Given the description of an element on the screen output the (x, y) to click on. 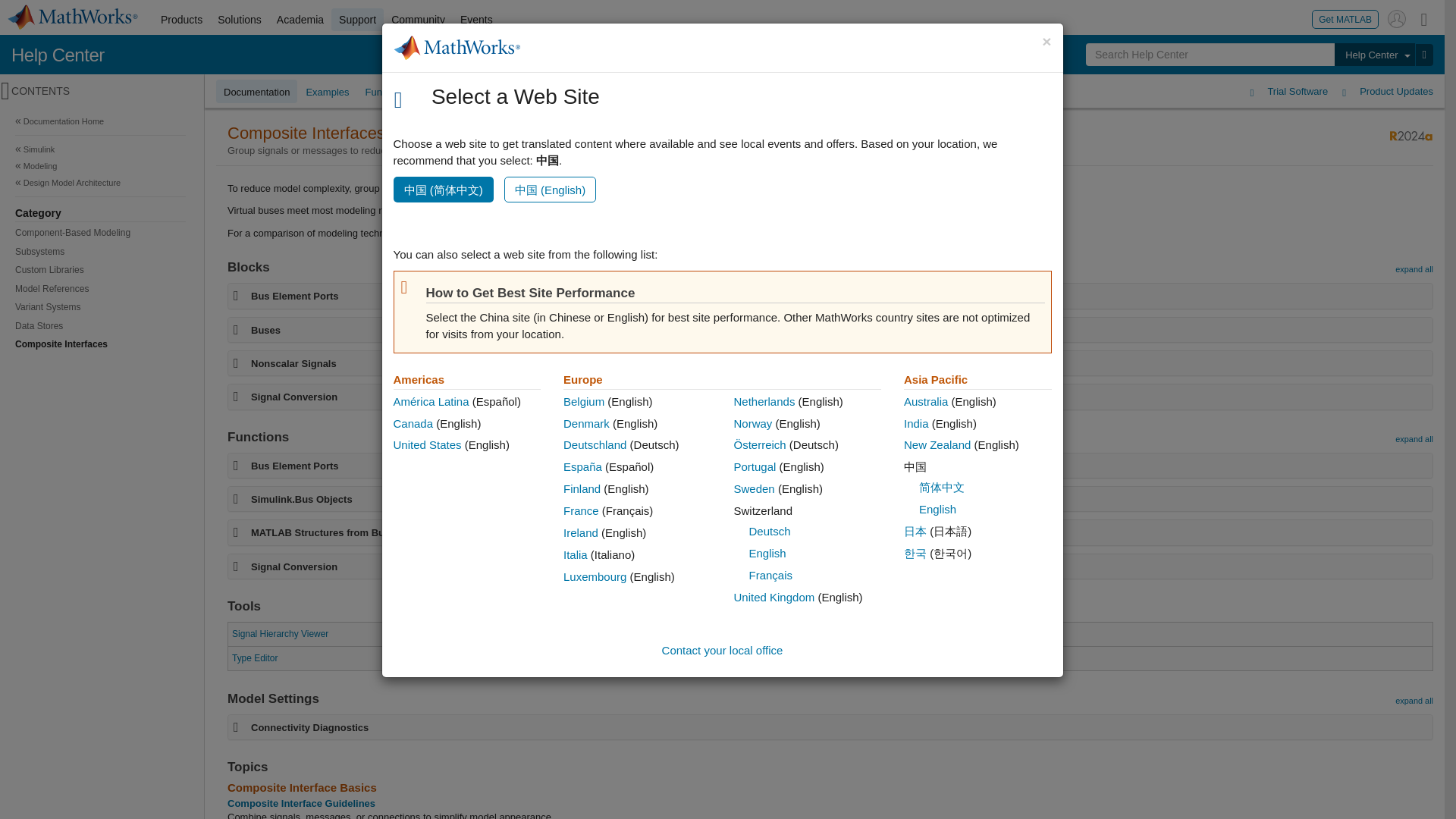
Matrix Menu (1423, 18)
Solutions (239, 19)
Products (180, 19)
Get MATLAB (1344, 18)
Support (357, 19)
Community (418, 19)
Events (476, 19)
Sign In to Your MathWorks Account (1396, 18)
Academia (300, 19)
